Given the description of an element on the screen output the (x, y) to click on. 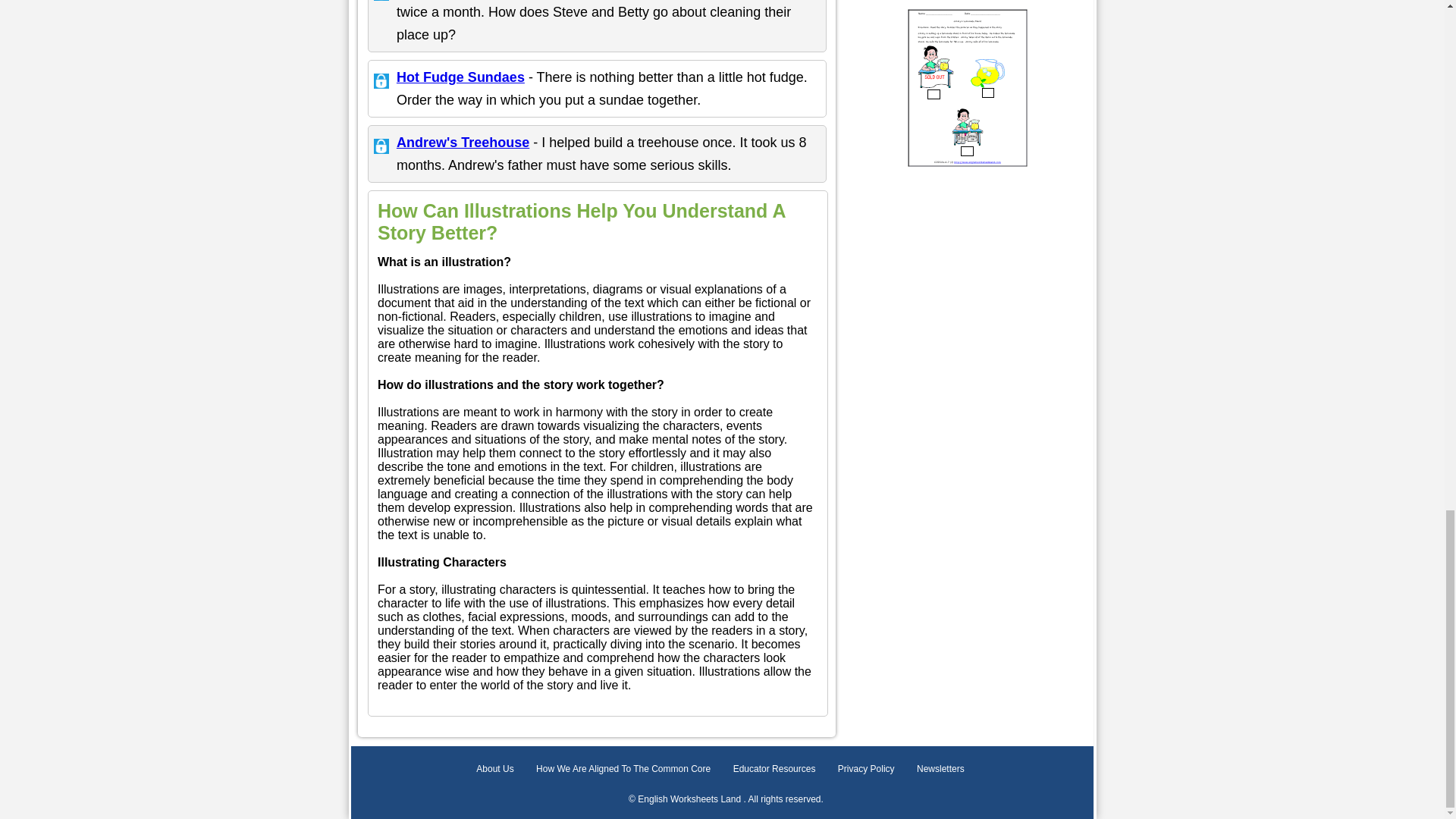
Hot Fudge Sundaes (460, 77)
How We Are Aligned To The Common Core (622, 768)
Newsletters (940, 768)
About Us (494, 768)
Andrew's Treehouse (462, 142)
Privacy Policy (866, 768)
Educator Resources (774, 768)
